Given the description of an element on the screen output the (x, y) to click on. 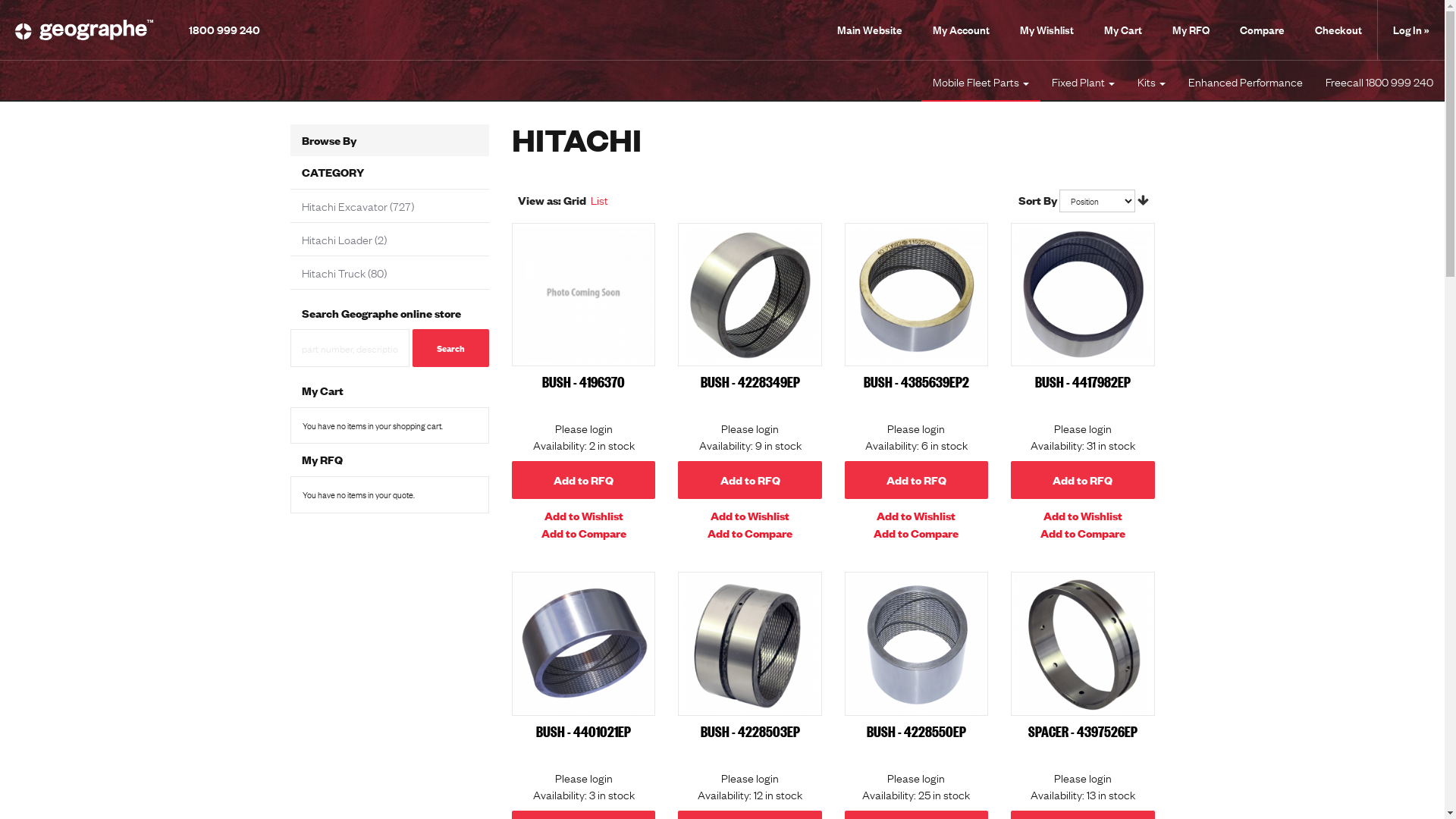
SPACER - 4397526EP Element type: hover (1082, 643)
Add to Wishlist Element type: text (583, 515)
List Element type: text (599, 199)
Add to Compare Element type: text (1082, 532)
Add to RFQ Element type: text (583, 479)
Checkout Element type: text (1338, 29)
Add to Compare Element type: text (915, 532)
Add to RFQ Element type: text (749, 479)
Add to Wishlist Element type: text (749, 515)
Search Element type: text (450, 348)
Freecall 1800 999 240 Element type: text (1379, 81)
Hitachi Truck Element type: text (333, 271)
Mobile Fleet Parts Element type: text (980, 81)
Add to RFQ Element type: text (916, 479)
1800 999 240 Element type: text (224, 29)
My Cart Element type: text (1122, 29)
SPACER - 4397526EP Element type: text (1082, 730)
Kits Element type: text (1151, 81)
BUSH - 4228349EP Element type: hover (749, 294)
My RFQ Element type: text (1190, 29)
BUSH - 4228503EP Element type: hover (749, 643)
BUSH - 4385639EP2  Element type: hover (916, 294)
My Account Element type: text (960, 29)
Add to RFQ Element type: text (1082, 479)
Hitachi Excavator Element type: text (344, 205)
Fixed Plant Element type: text (1083, 81)
BUSH - 4401021EP Element type: hover (583, 643)
Hitachi Loader Element type: text (336, 238)
BUSH - 4196370 Element type: hover (583, 294)
BUSH - 4417982EP Element type: text (1082, 381)
My Wishlist Element type: text (1046, 29)
Add to Wishlist Element type: text (915, 515)
Enhanced Performance Element type: text (1245, 81)
BUSH - 4228349EP Element type: text (750, 381)
Add to Wishlist Element type: text (1082, 515)
Compare Element type: text (1261, 29)
BUSH - 4228550EP Element type: hover (916, 643)
BUSH - 4401021EP Element type: text (583, 730)
BUSH - 4385639EP2 Element type: text (916, 381)
BUSH - 4228550EP Element type: text (916, 730)
Set Ascending Direction Element type: hover (1142, 199)
Geographe Enterprises Element type: hover (84, 29)
BUSH - 4196370 Element type: text (583, 381)
Add to Compare Element type: text (583, 532)
Add to Compare Element type: text (749, 532)
BUSH - 4417982EP Element type: hover (1082, 294)
Main Website Element type: text (869, 29)
BUSH - 4228503EP Element type: text (750, 730)
